Given the description of an element on the screen output the (x, y) to click on. 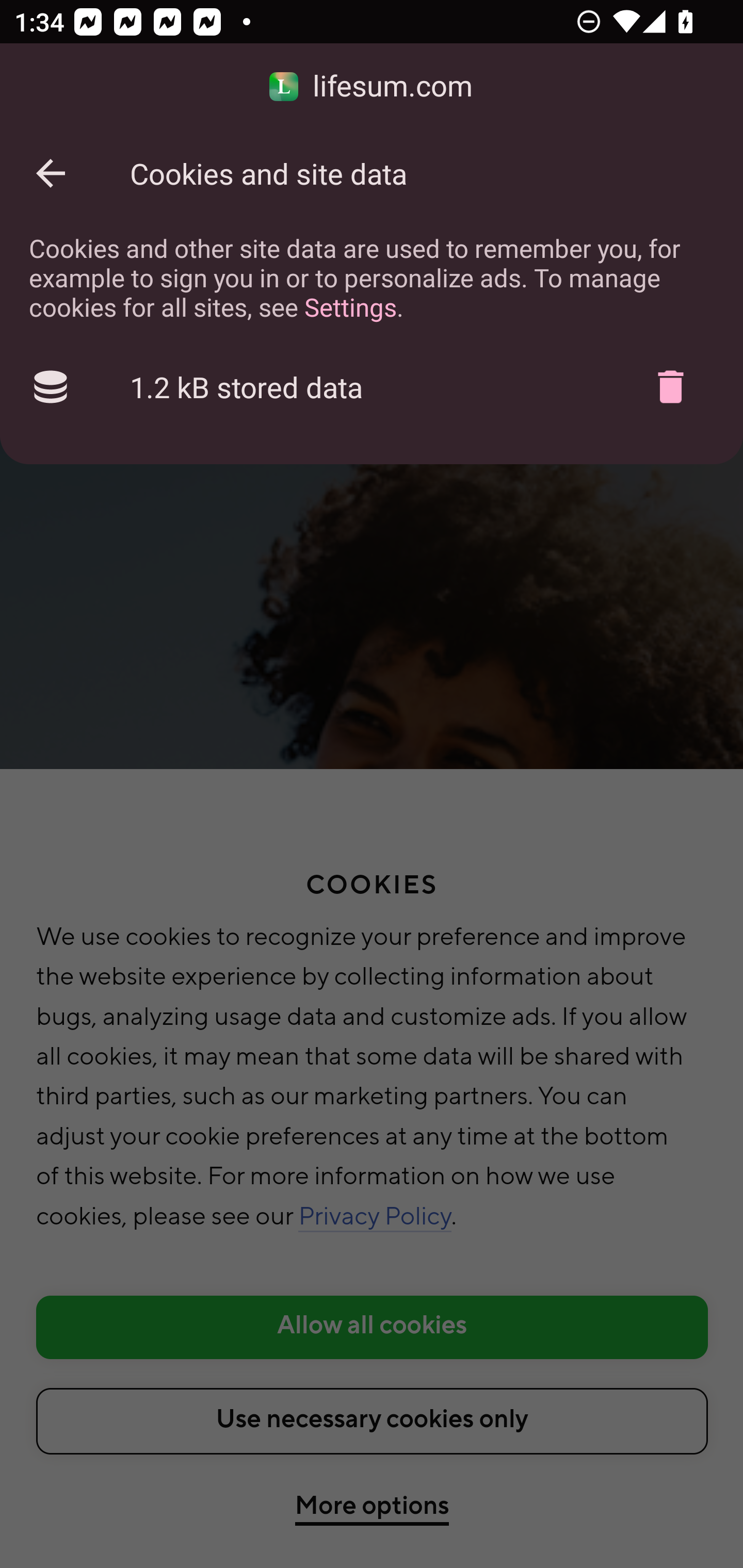
lifesum.com (371, 86)
Back (50, 173)
1.2 kB stored data Delete cookies? (371, 386)
